Given the description of an element on the screen output the (x, y) to click on. 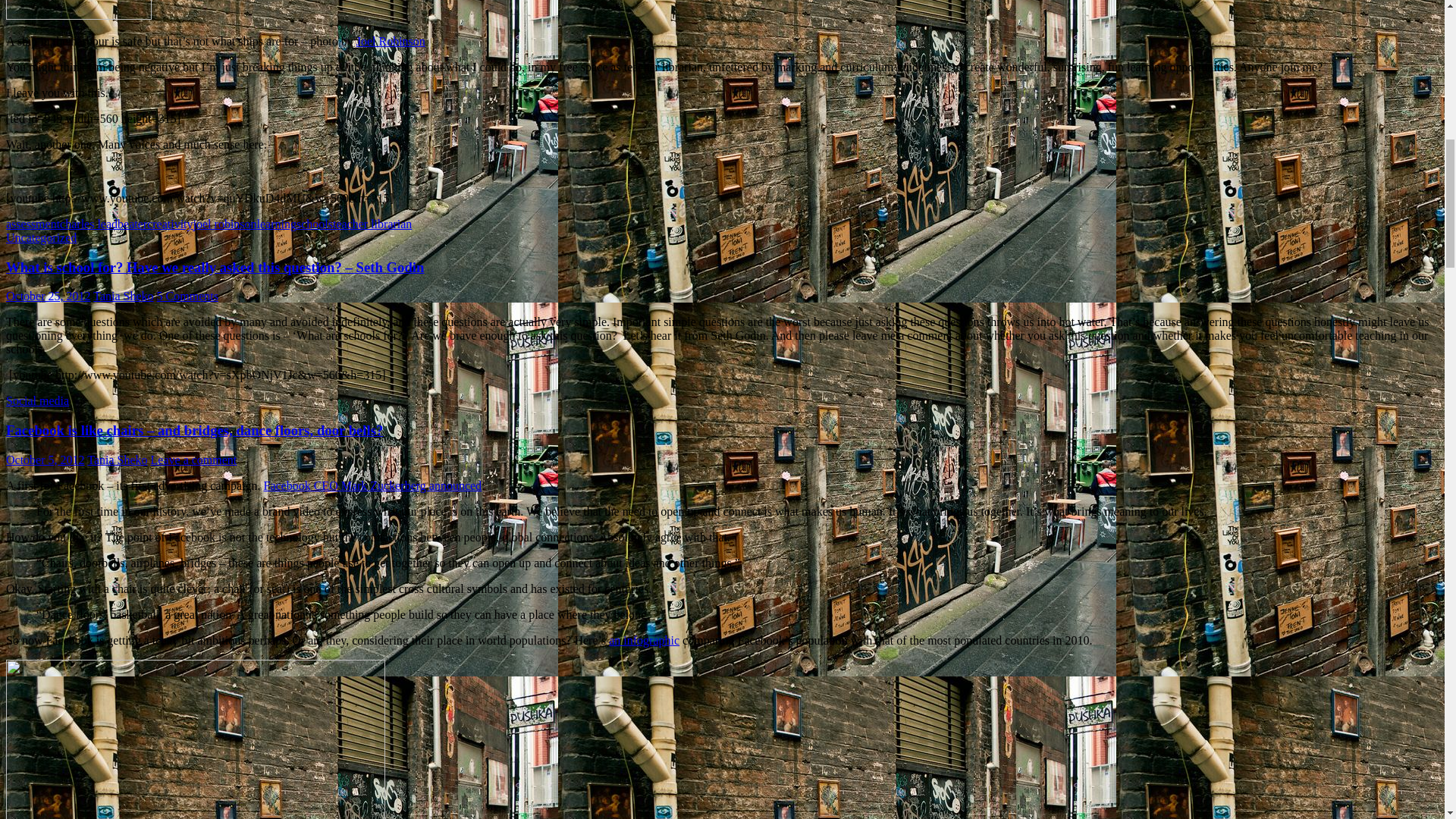
October 5, 2012 (44, 459)
learning (277, 223)
creativity (169, 223)
joel robinson (225, 223)
teacher librarian (372, 223)
Uncategorized (41, 237)
October 25, 2012 (47, 295)
charles leadbeater (103, 223)
Joel Robinson (390, 41)
Tania Sheko (122, 295)
